Given the description of an element on the screen output the (x, y) to click on. 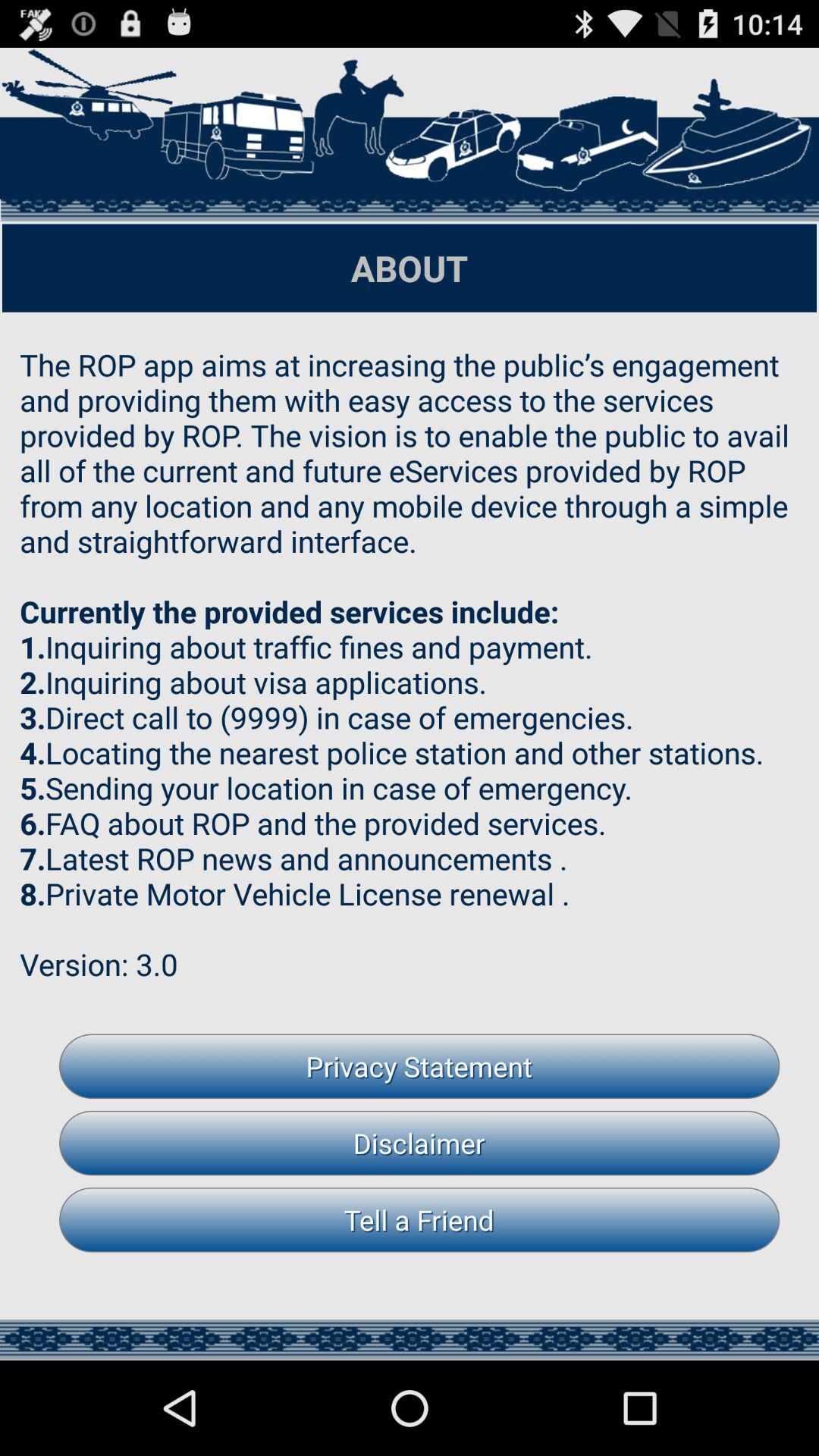
tap item above the disclaimer (419, 1065)
